Given the description of an element on the screen output the (x, y) to click on. 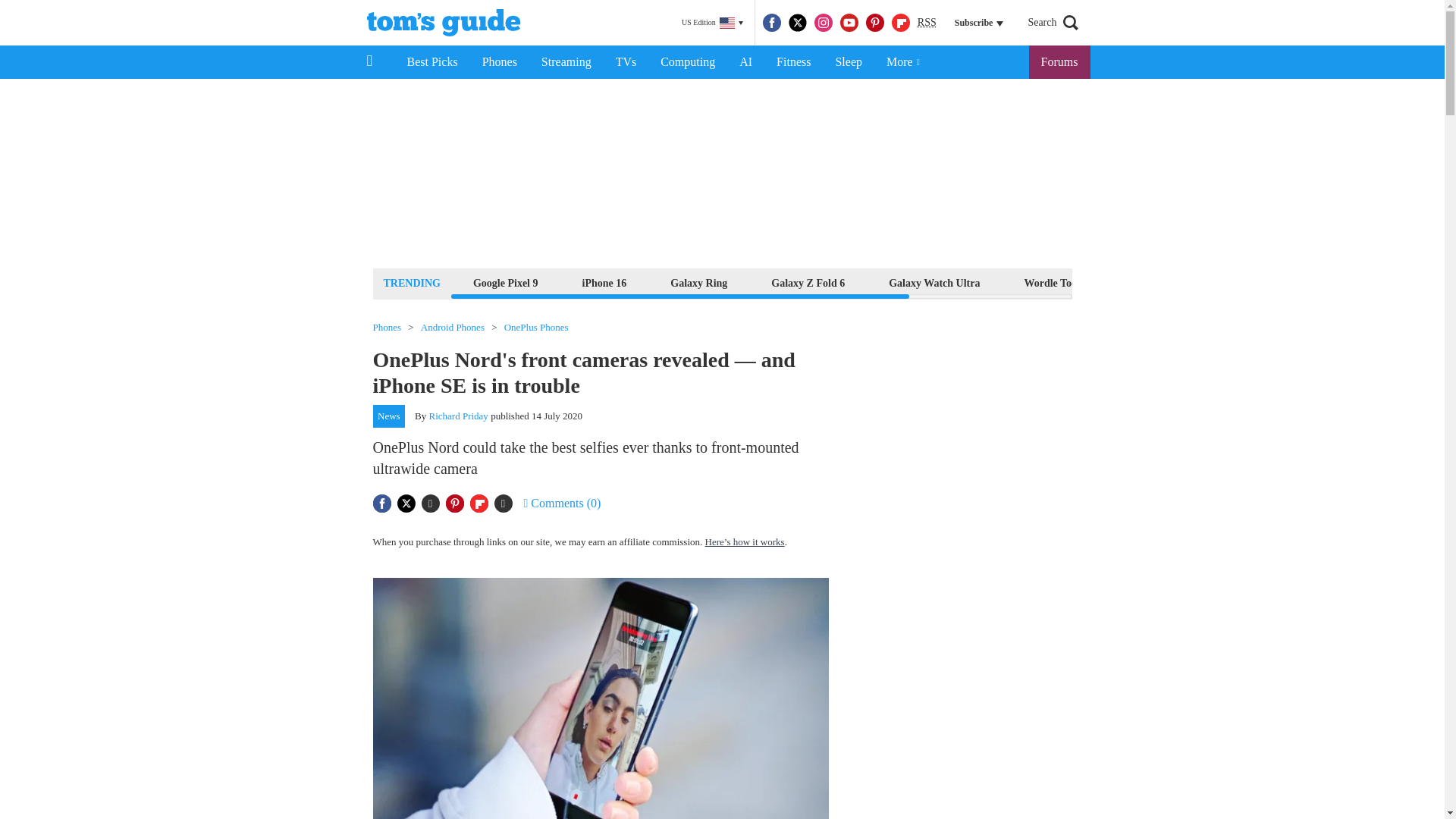
Computing (686, 61)
Phones (499, 61)
Fitness (793, 61)
TVs (626, 61)
US Edition (712, 22)
Streaming (566, 61)
Sleep (848, 61)
Best Picks (431, 61)
Really Simple Syndication (926, 21)
AI (745, 61)
